Given the description of an element on the screen output the (x, y) to click on. 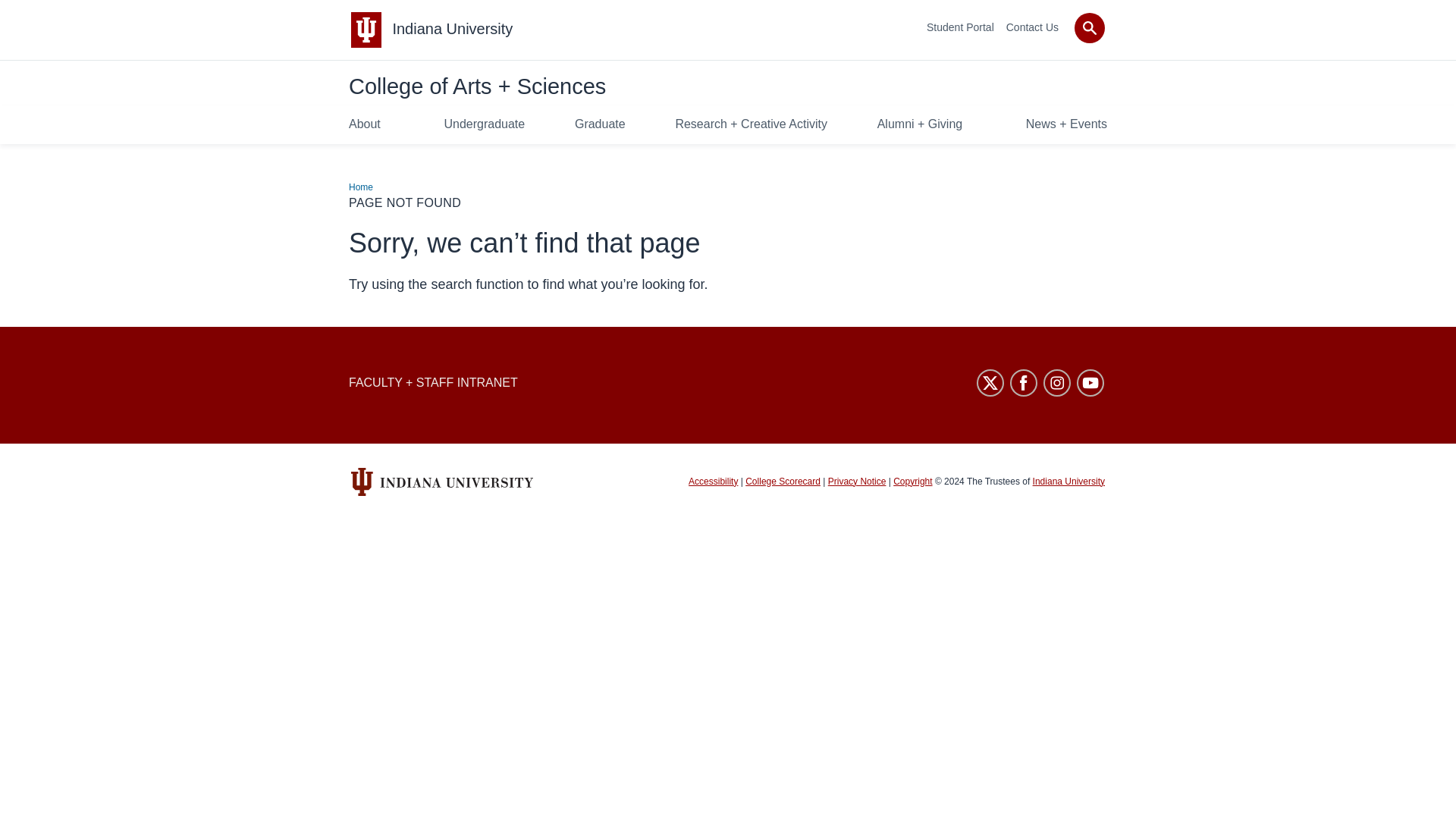
Indiana University (451, 28)
Indiana University (451, 28)
